Given the description of an element on the screen output the (x, y) to click on. 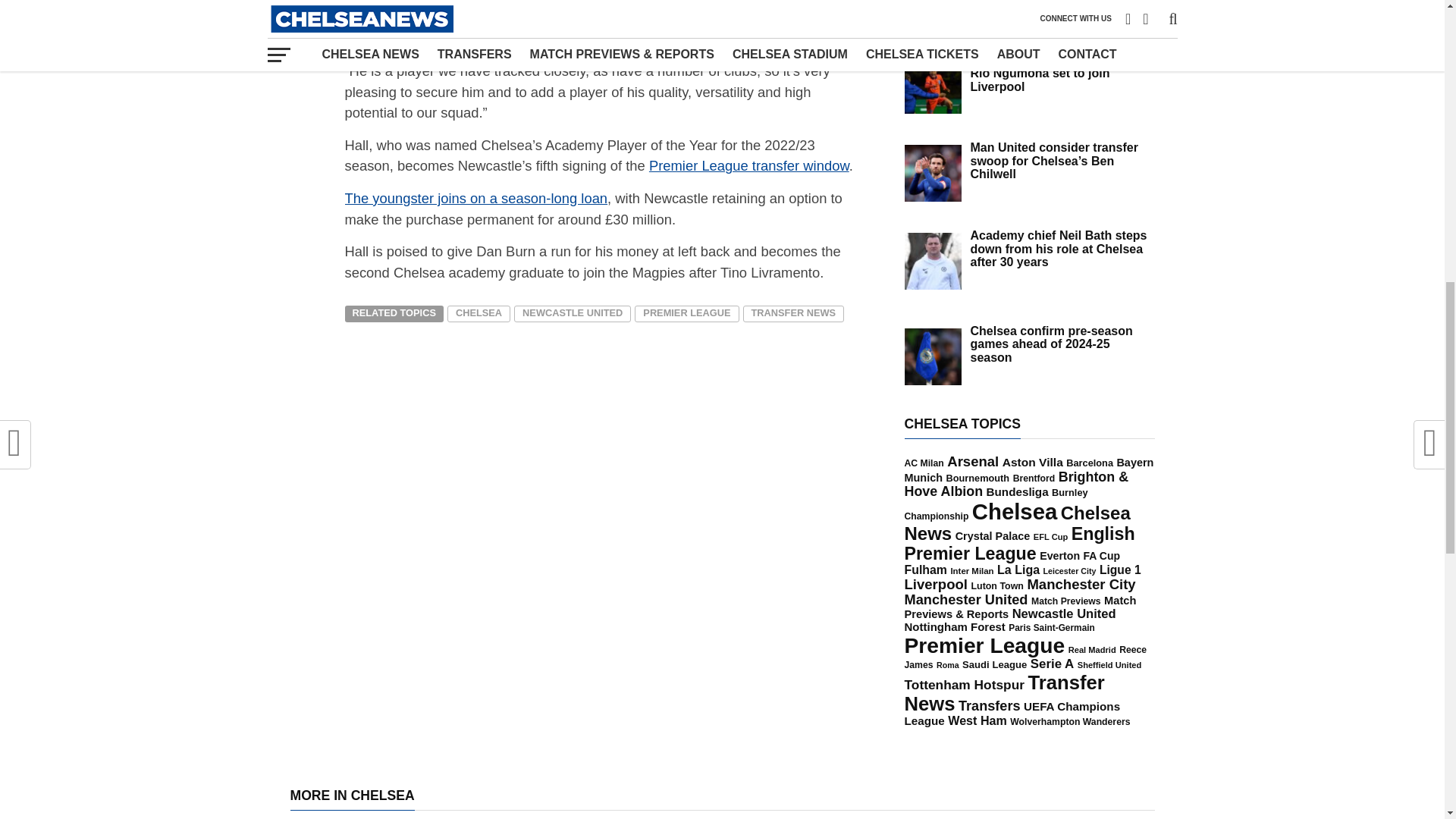
PREMIER LEAGUE (686, 313)
Premier League transfer window (748, 165)
NEWCASTLE UNITED (571, 313)
CHELSEA (478, 313)
The youngster joins on a season-long loan (475, 198)
TRANSFER NEWS (793, 313)
